Given the description of an element on the screen output the (x, y) to click on. 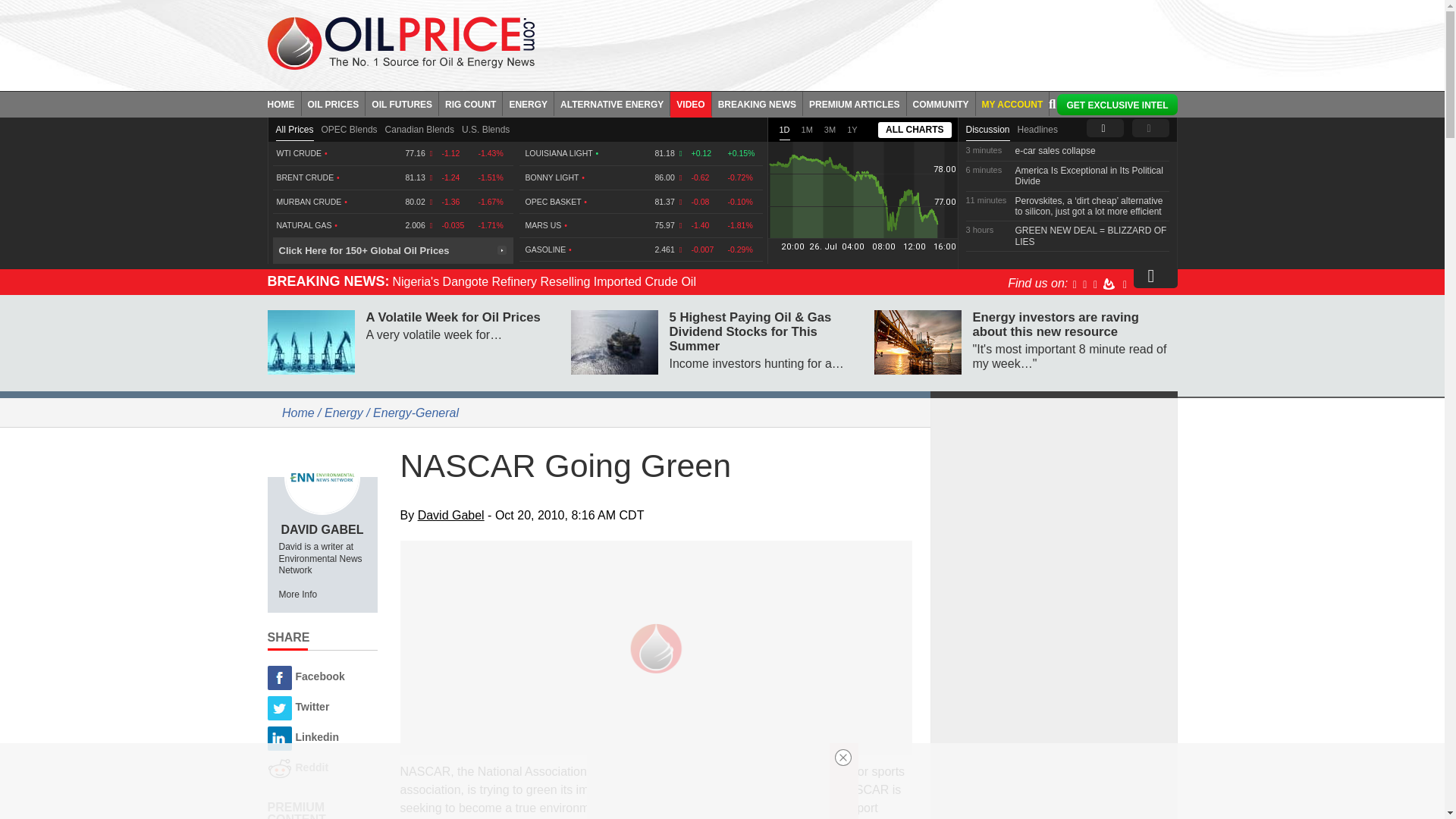
RIG COUNT (470, 103)
MY ACCOUNT (1012, 103)
PREMIUM ARTICLES (855, 103)
Oil prices - Oilprice.com (400, 42)
BREAKING NEWS (757, 103)
HOME (283, 103)
David Gabel (321, 476)
3rd party ad content (1053, 502)
VIDEO (690, 103)
OIL FUTURES (402, 103)
3rd party ad content (866, 41)
ENERGY (528, 103)
3rd party ad content (707, 780)
OIL PRICES (333, 103)
COMMUNITY (941, 103)
